Given the description of an element on the screen output the (x, y) to click on. 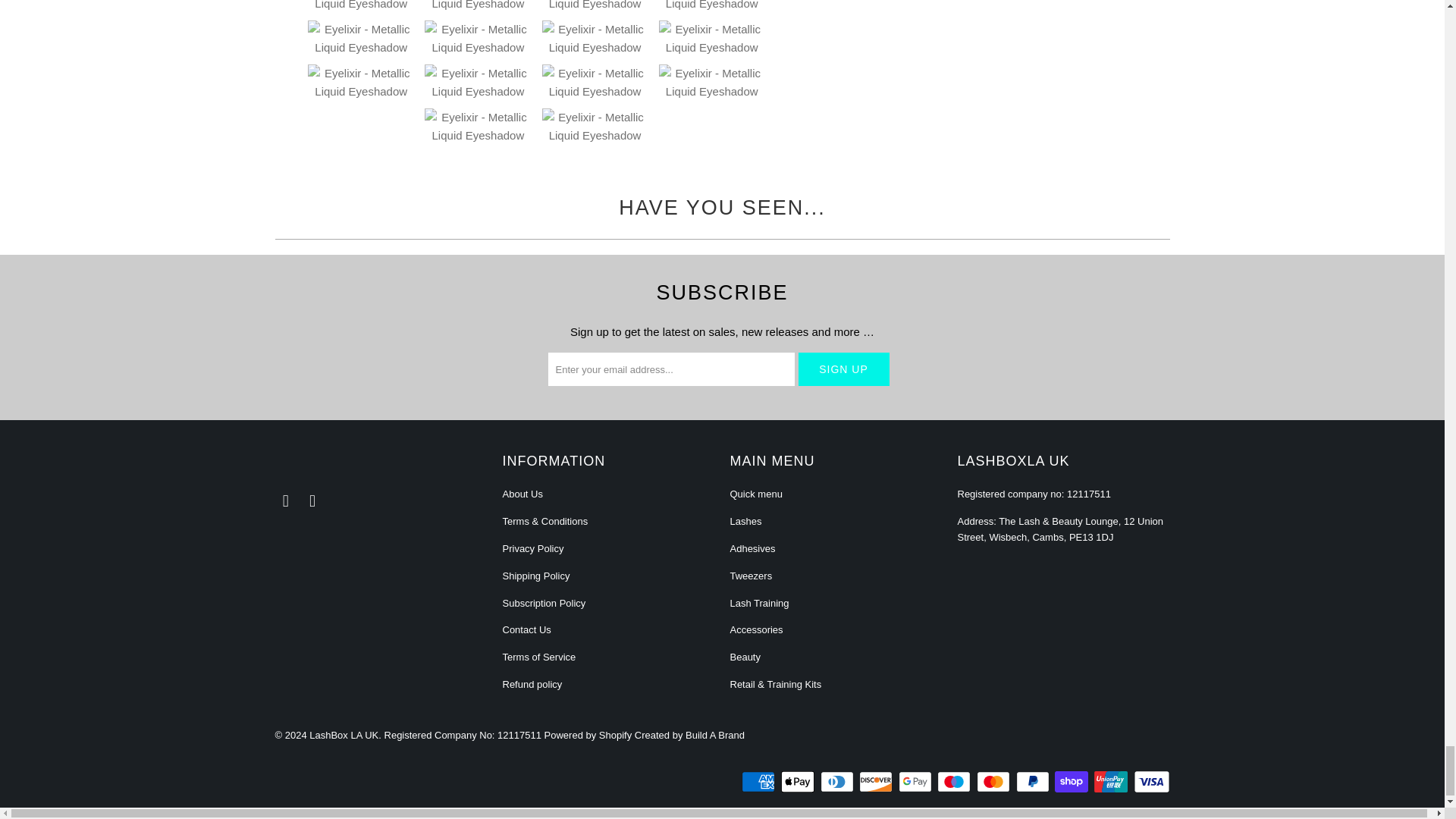
LashBox LA UK on Instagram (312, 501)
Sign Up (842, 368)
Maestro (955, 781)
Shop Pay (1072, 781)
PayPal (1034, 781)
Visa (1150, 781)
Apple Pay (798, 781)
Discover (877, 781)
American Express (759, 781)
LashBox LA UK on Facebook (286, 501)
